Given the description of an element on the screen output the (x, y) to click on. 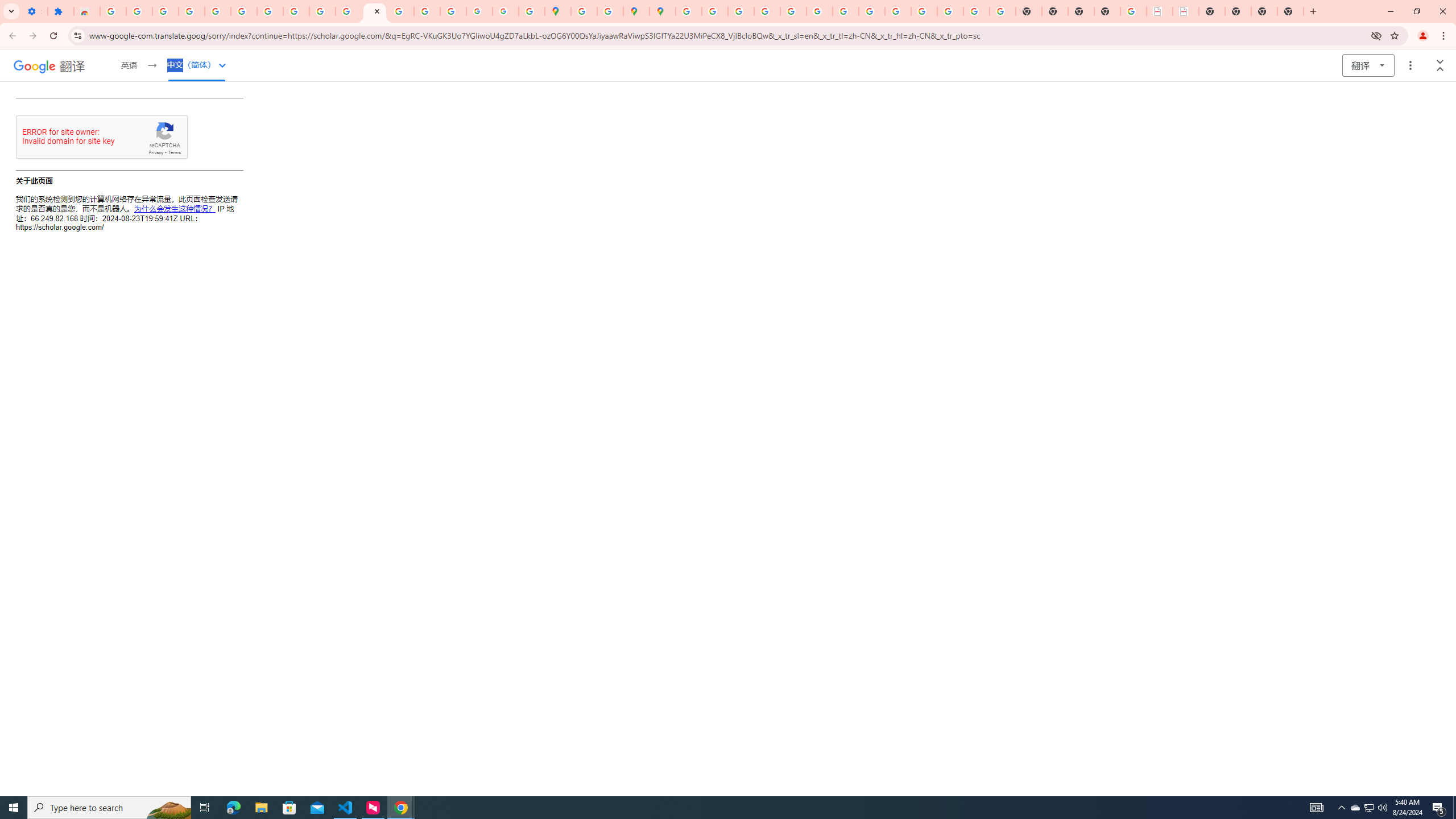
Sign in - Google Accounts (112, 11)
New Tab (1107, 11)
Settings - On startup (34, 11)
Reviews: Helix Fruit Jump Arcade Game (86, 11)
Privacy Help Center - Policies Help (740, 11)
New Tab (1290, 11)
